Given the description of an element on the screen output the (x, y) to click on. 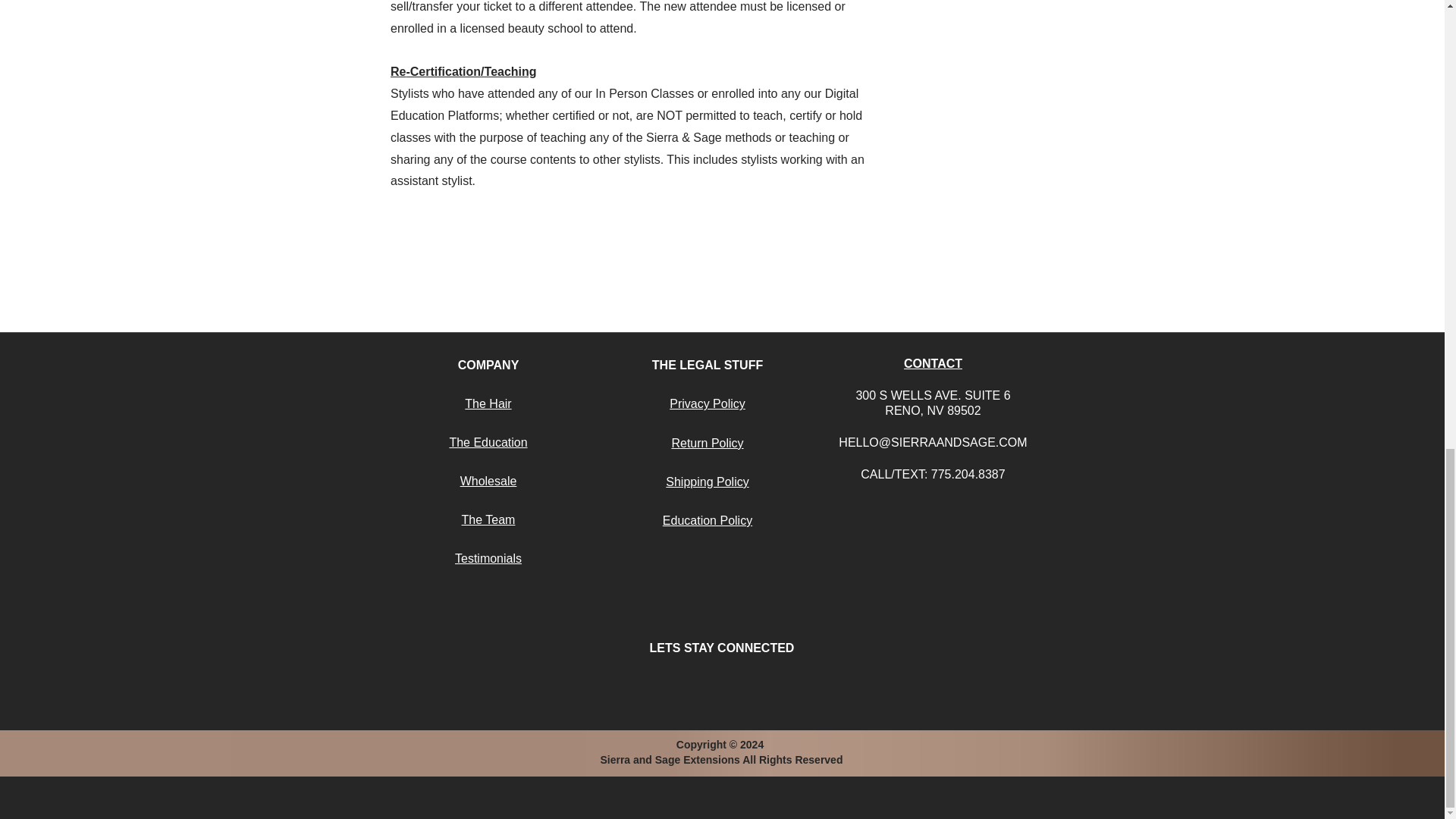
Return Policy (706, 442)
The Team (488, 519)
Privacy Policy (707, 403)
The Hair (487, 403)
Wholesale (488, 481)
The Education (487, 441)
Testimonials (487, 558)
